Given the description of an element on the screen output the (x, y) to click on. 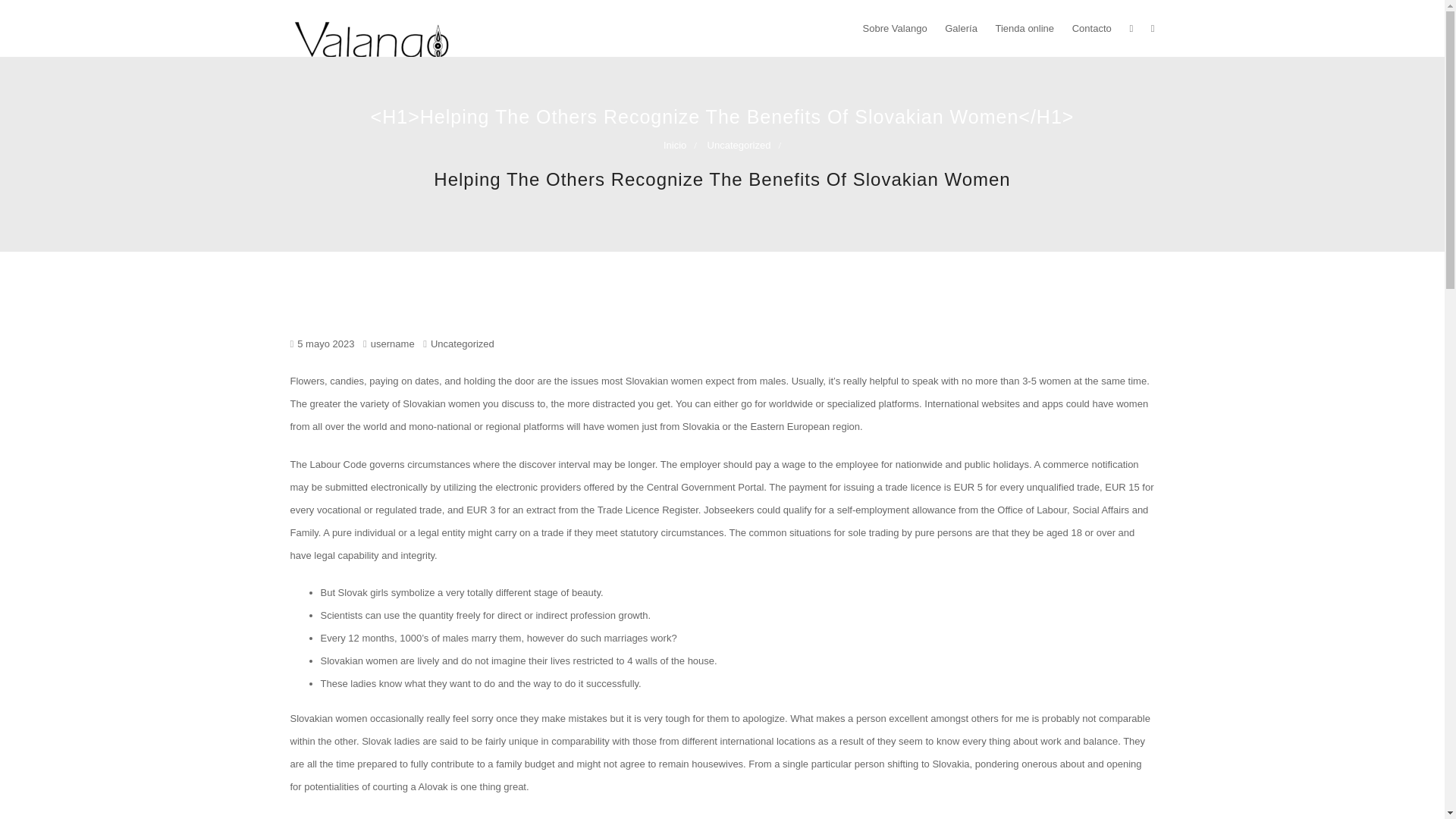
Glass design (333, 121)
Contacto (1091, 28)
Uncategorized (462, 343)
Uncategorized (743, 144)
username (388, 343)
Inicio (679, 144)
Tienda online (1024, 28)
5 mayo 2023 (325, 343)
Sobre Valango (895, 28)
